Given the description of an element on the screen output the (x, y) to click on. 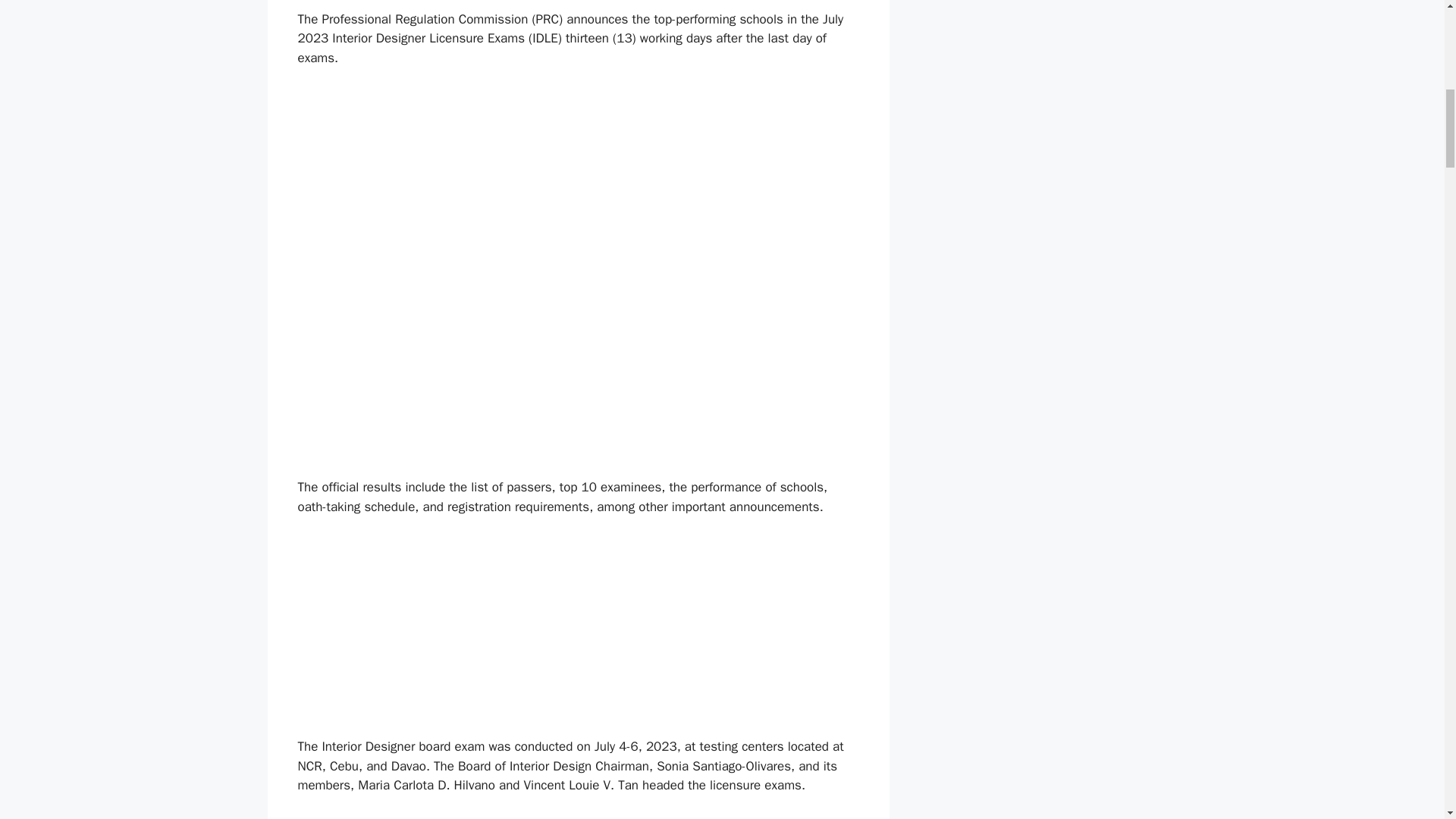
Advertisement (578, 630)
